Given the description of an element on the screen output the (x, y) to click on. 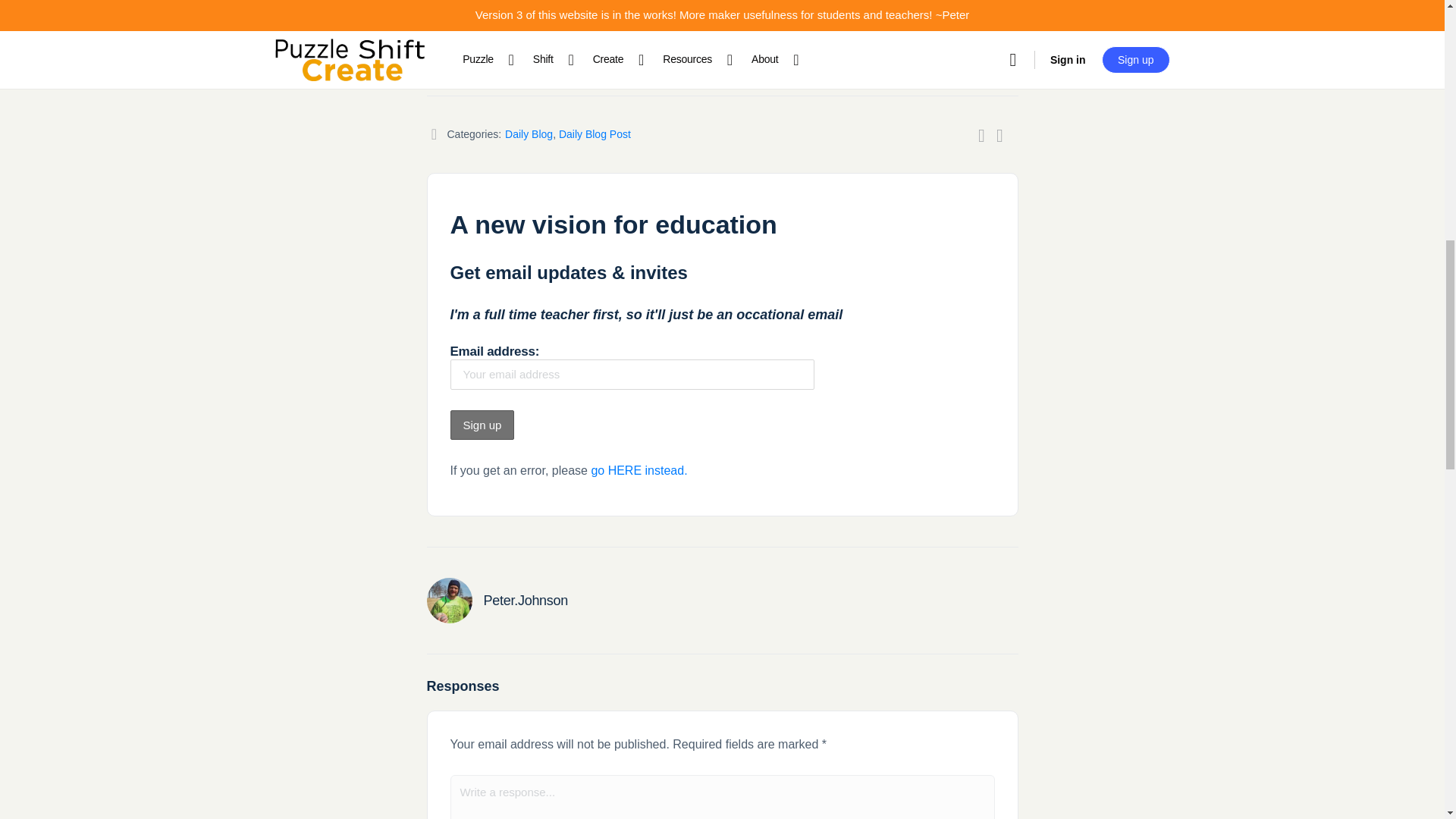
Sign up (482, 424)
